Given the description of an element on the screen output the (x, y) to click on. 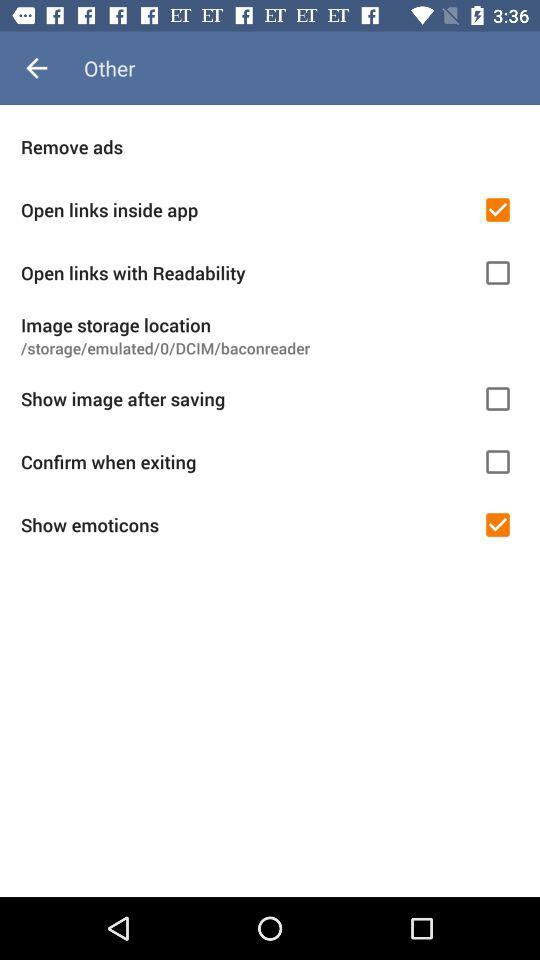
click storage emulated 0 (270, 347)
